Given the description of an element on the screen output the (x, y) to click on. 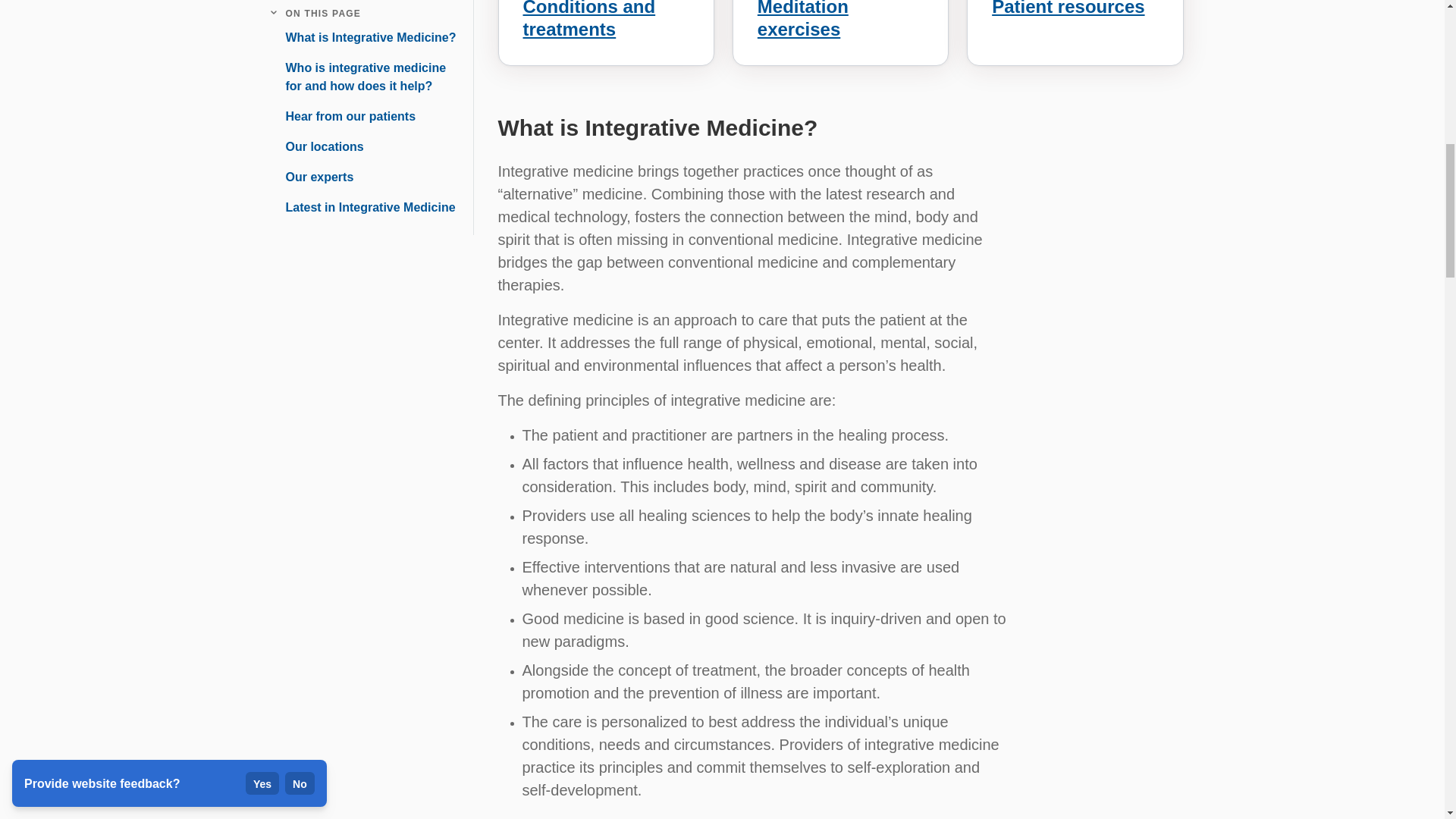
Our experts (312, 177)
Our locations (317, 146)
Meditation exercises (802, 19)
Patient resources (1067, 8)
Who is integrative medicine for and how does it help? (365, 77)
Collapse navigation (272, 13)
Hear from our patients (344, 116)
Conditions and treatments (589, 19)
What is Integrative Medicine? (363, 37)
Latest in Integrative Medicine (363, 207)
